Given the description of an element on the screen output the (x, y) to click on. 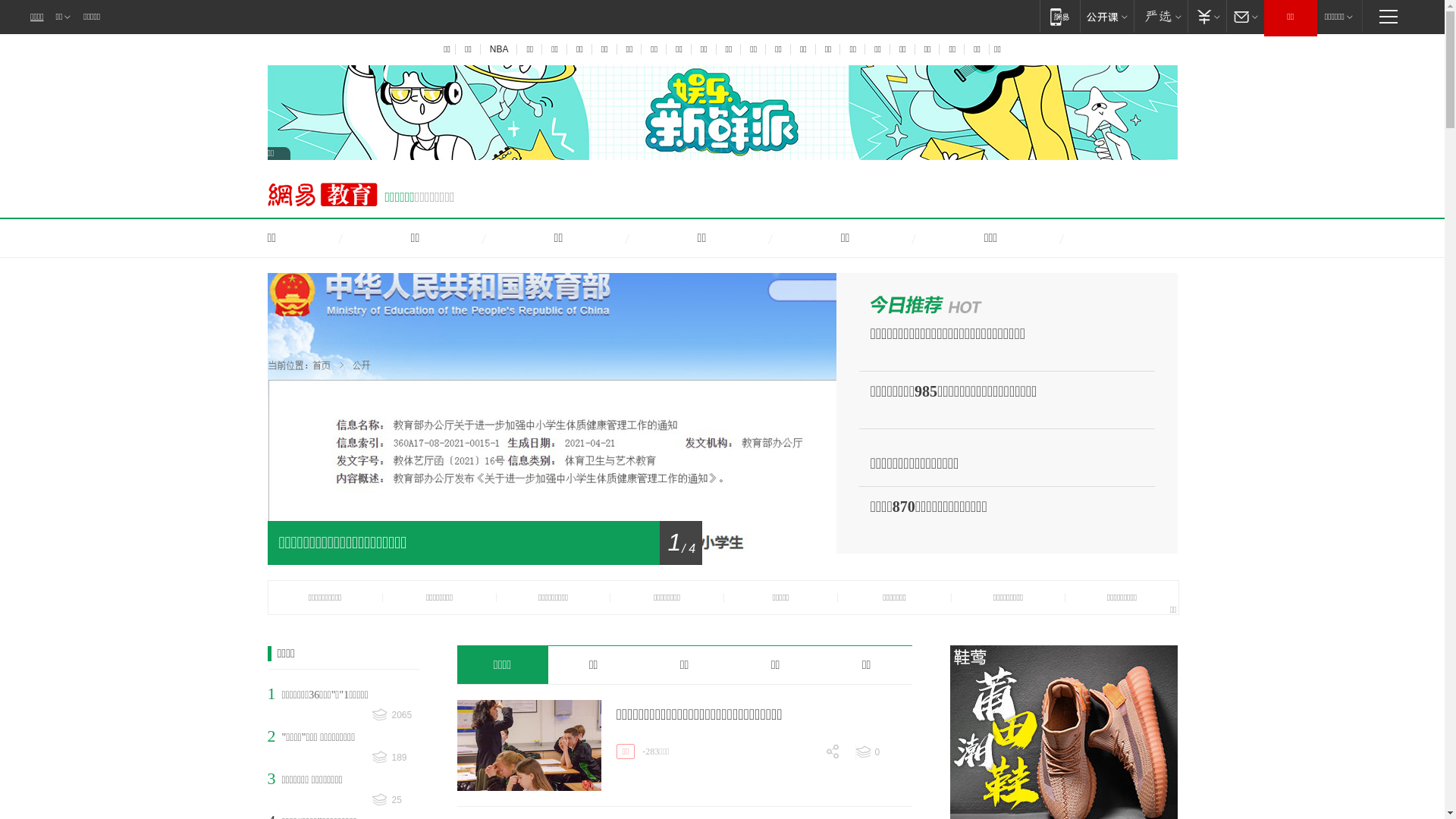
189 Element type: text (394, 757)
0 Element type: text (883, 751)
2065 Element type: text (394, 715)
NBA Element type: text (498, 48)
25 Element type: text (394, 800)
